Given the description of an element on the screen output the (x, y) to click on. 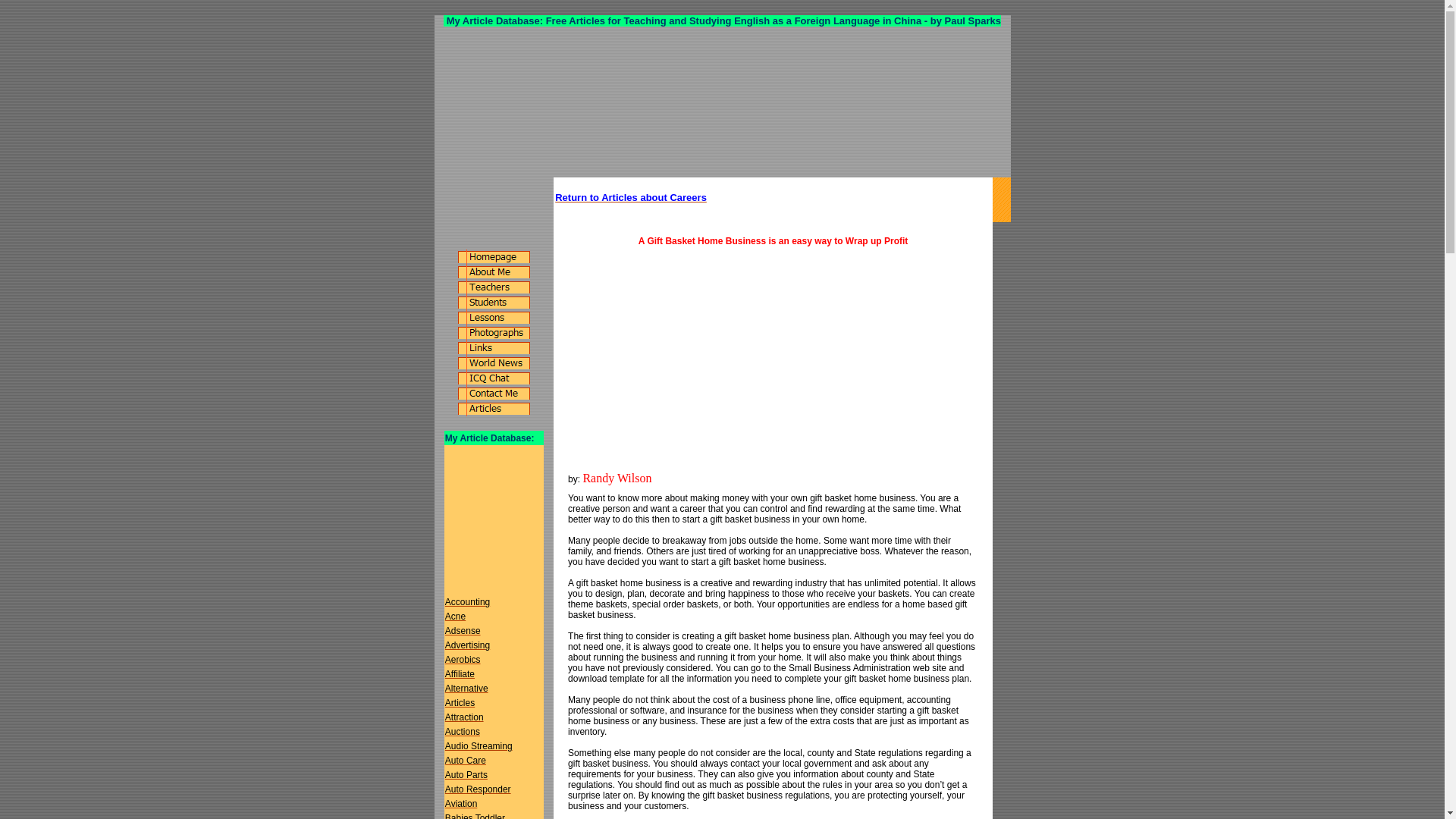
Aerobics (462, 659)
Affiliate (459, 674)
Aviation (461, 803)
Advertisement (694, 365)
Auto Care (465, 760)
Advertisement (490, 555)
Alternative (466, 688)
Advertising (467, 644)
Acne (455, 615)
Attraction (464, 716)
